Given the description of an element on the screen output the (x, y) to click on. 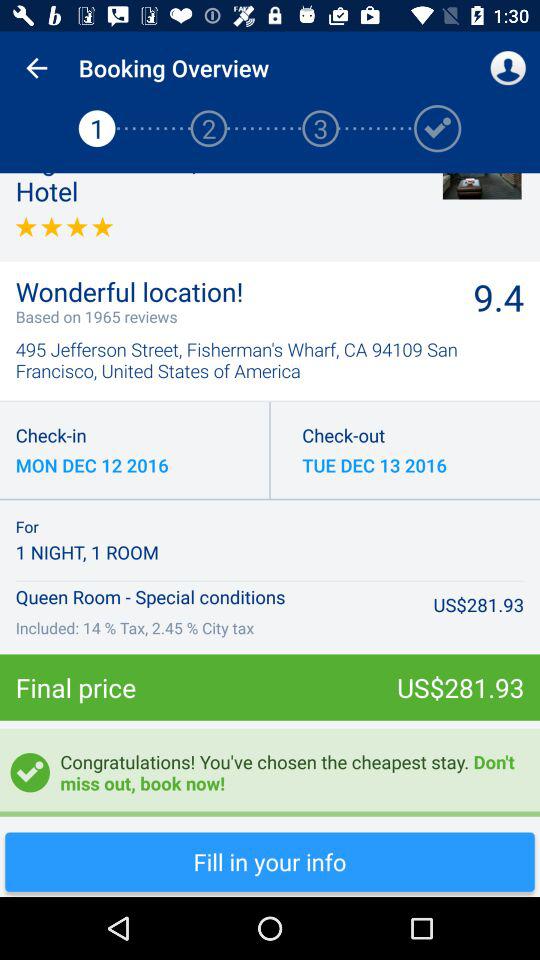
choose icon to the left of the 1 icon (36, 68)
